Given the description of an element on the screen output the (x, y) to click on. 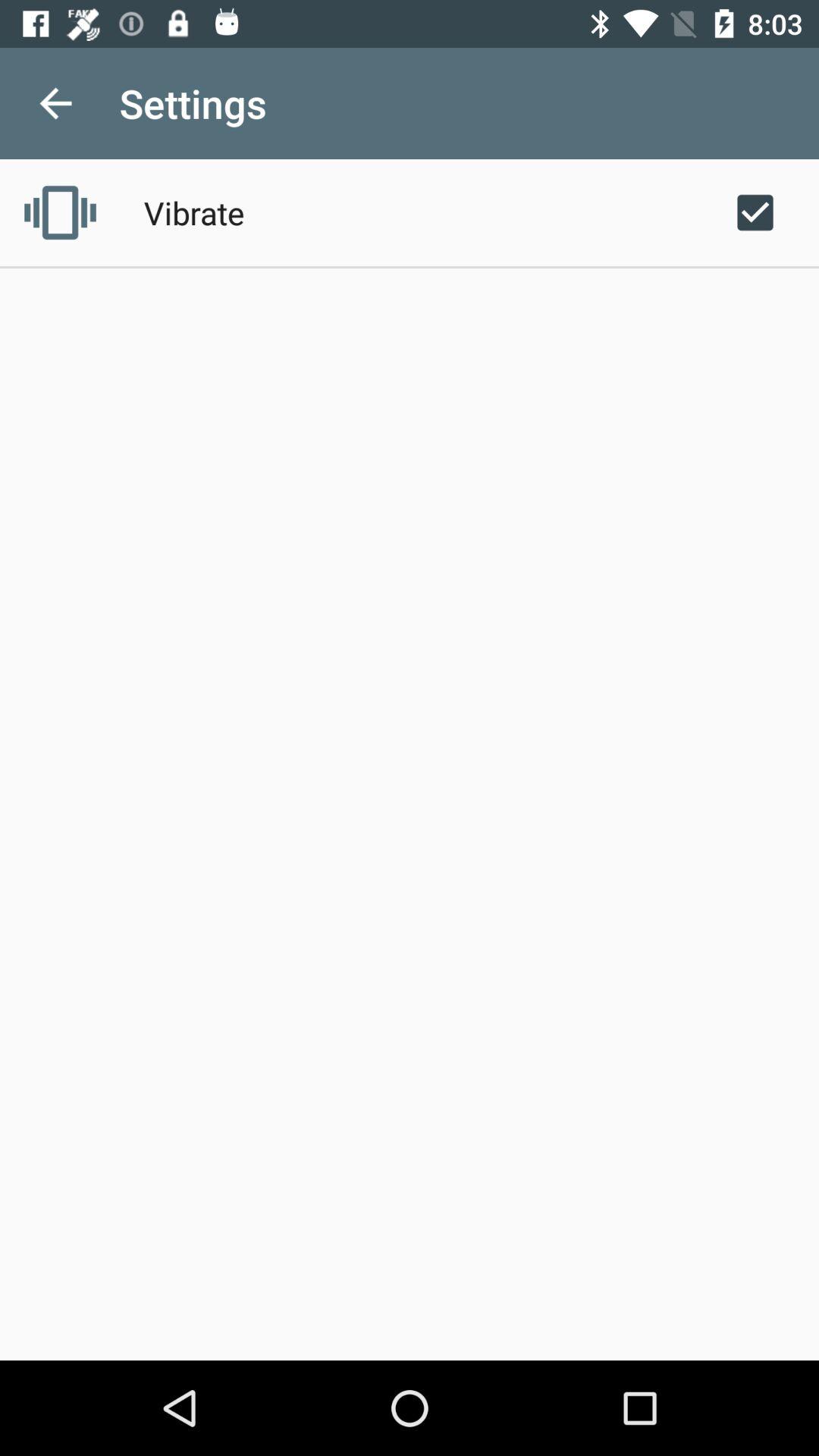
open vibrate (193, 212)
